Given the description of an element on the screen output the (x, y) to click on. 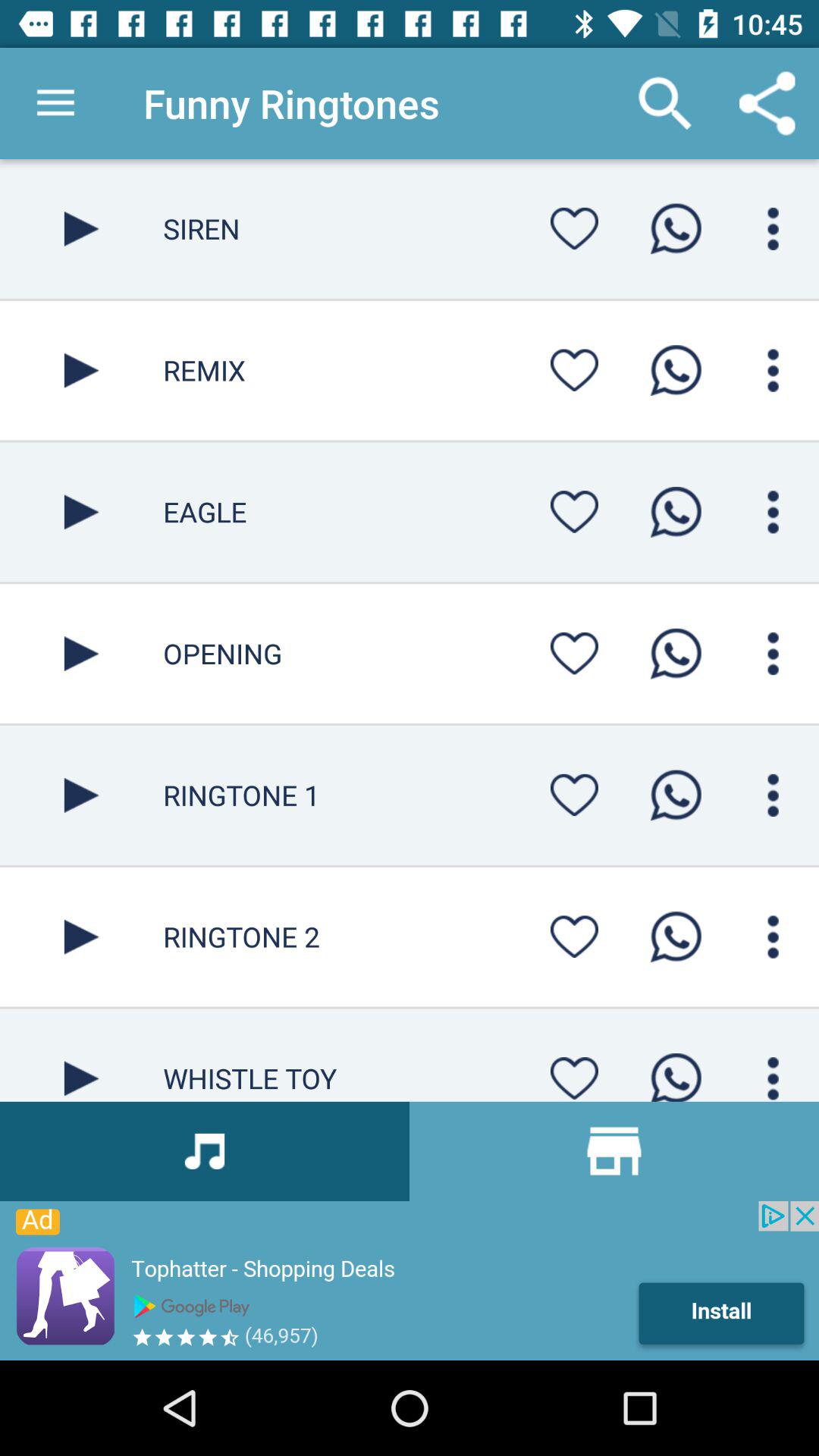
choose more option (773, 370)
